Given the description of an element on the screen output the (x, y) to click on. 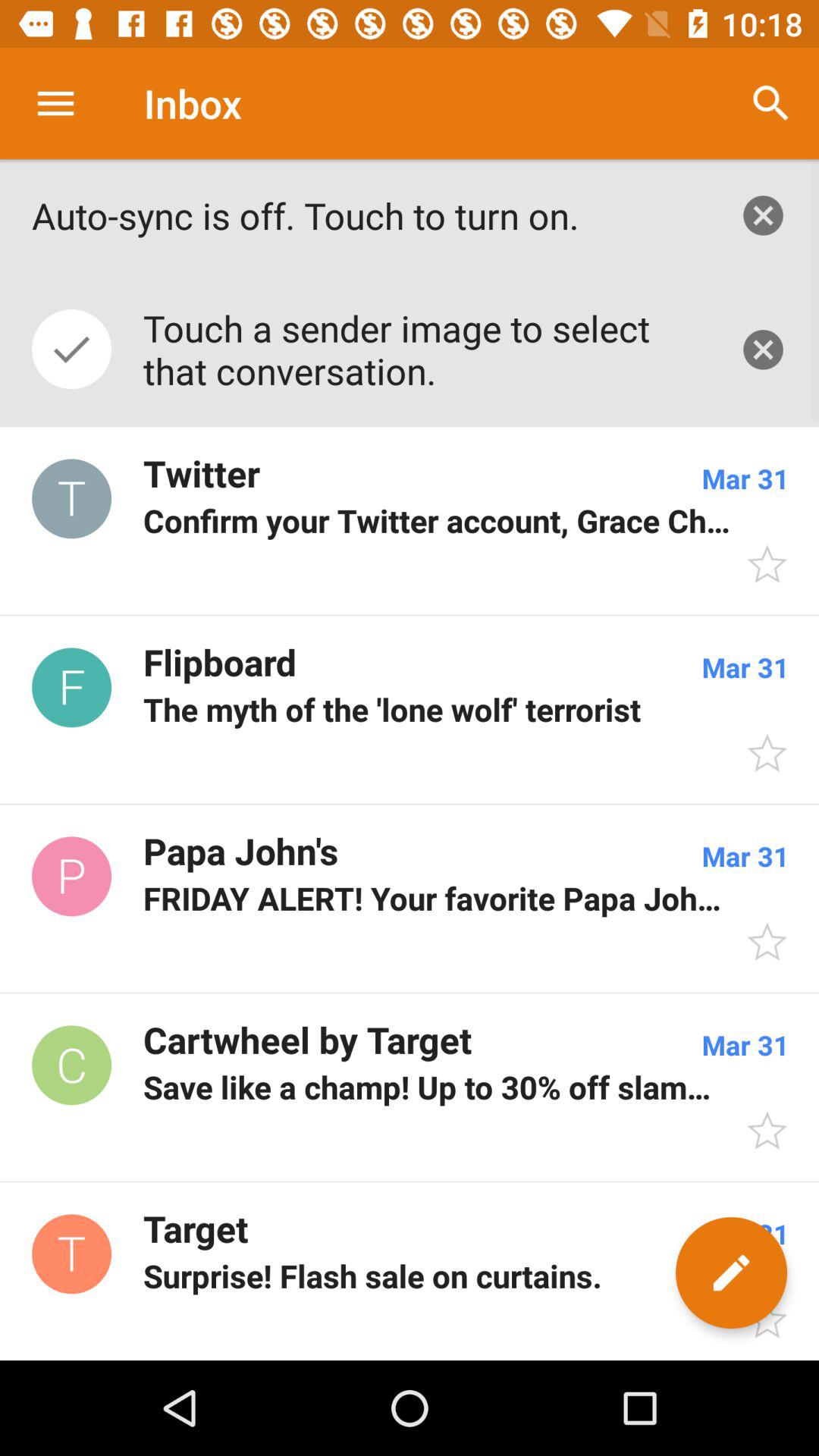
choose the item to the right of auto sync is icon (763, 215)
